Given the description of an element on the screen output the (x, y) to click on. 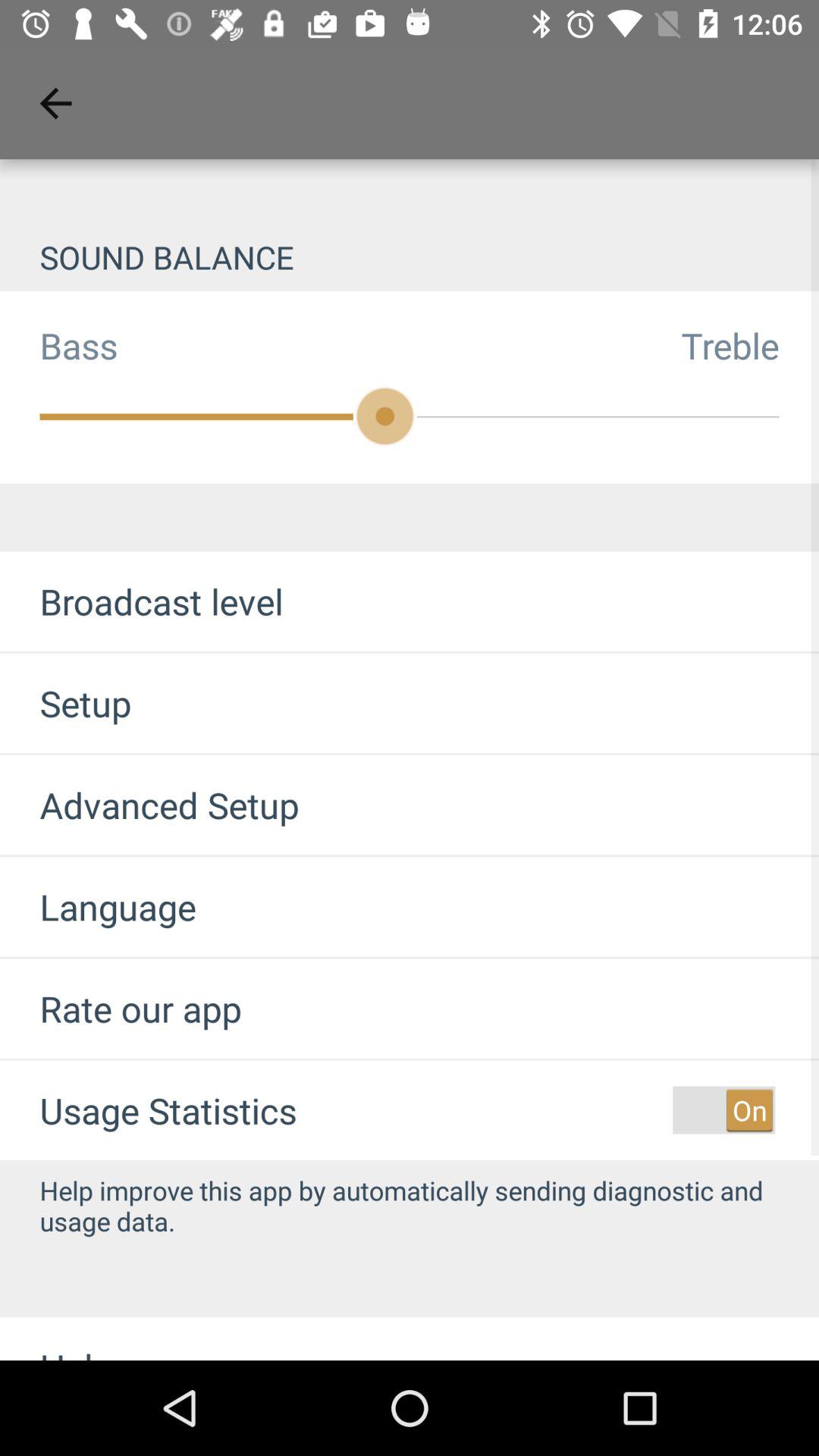
toggle usage statistics option (723, 1110)
